Given the description of an element on the screen output the (x, y) to click on. 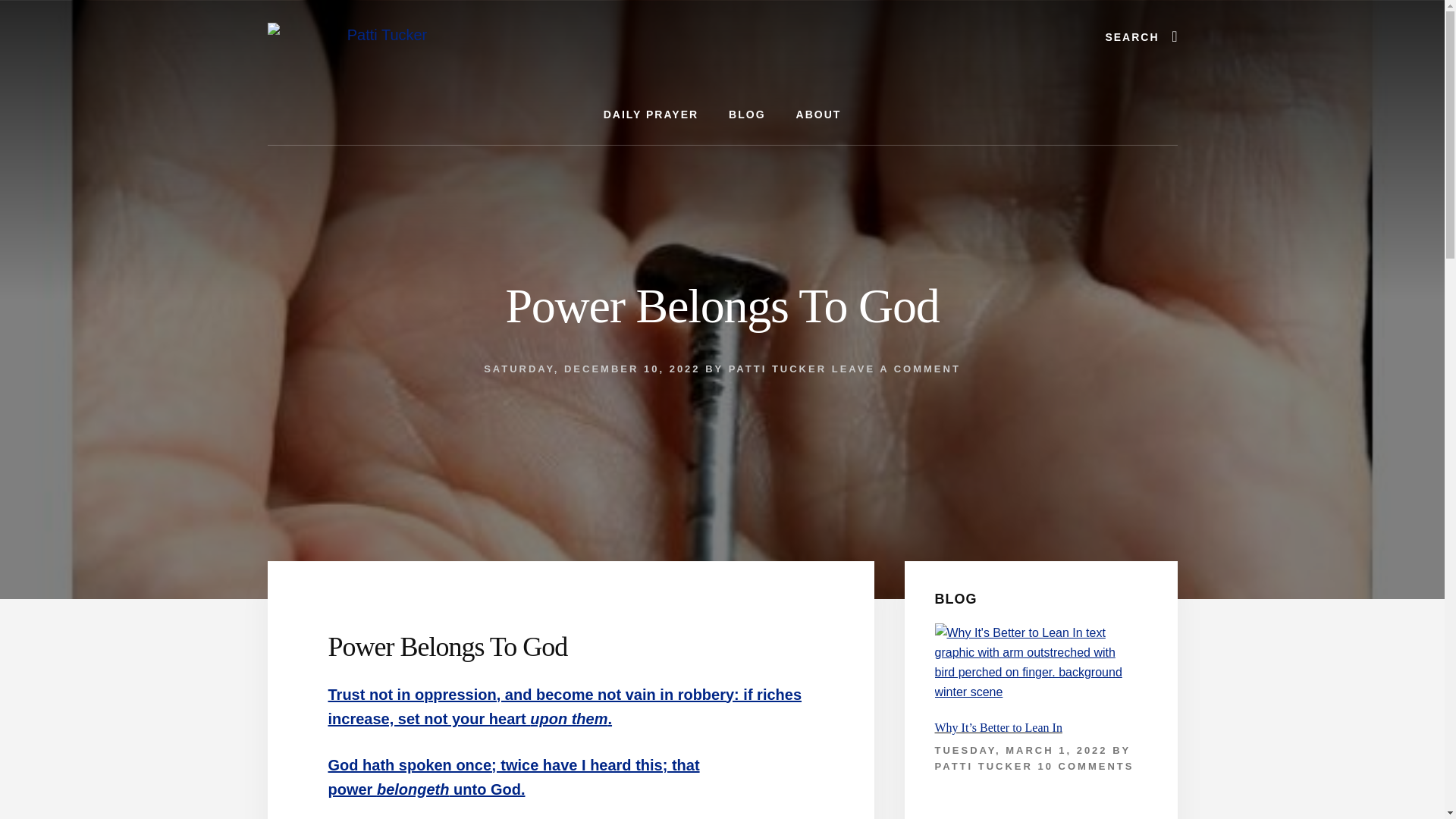
10 COMMENTS (1086, 766)
PATTI TUCKER (983, 766)
ABOUT (818, 114)
BLOG (746, 114)
DAILY PRAYER (650, 114)
LEAVE A COMMENT (895, 368)
PATTI TUCKER (778, 368)
